Given the description of an element on the screen output the (x, y) to click on. 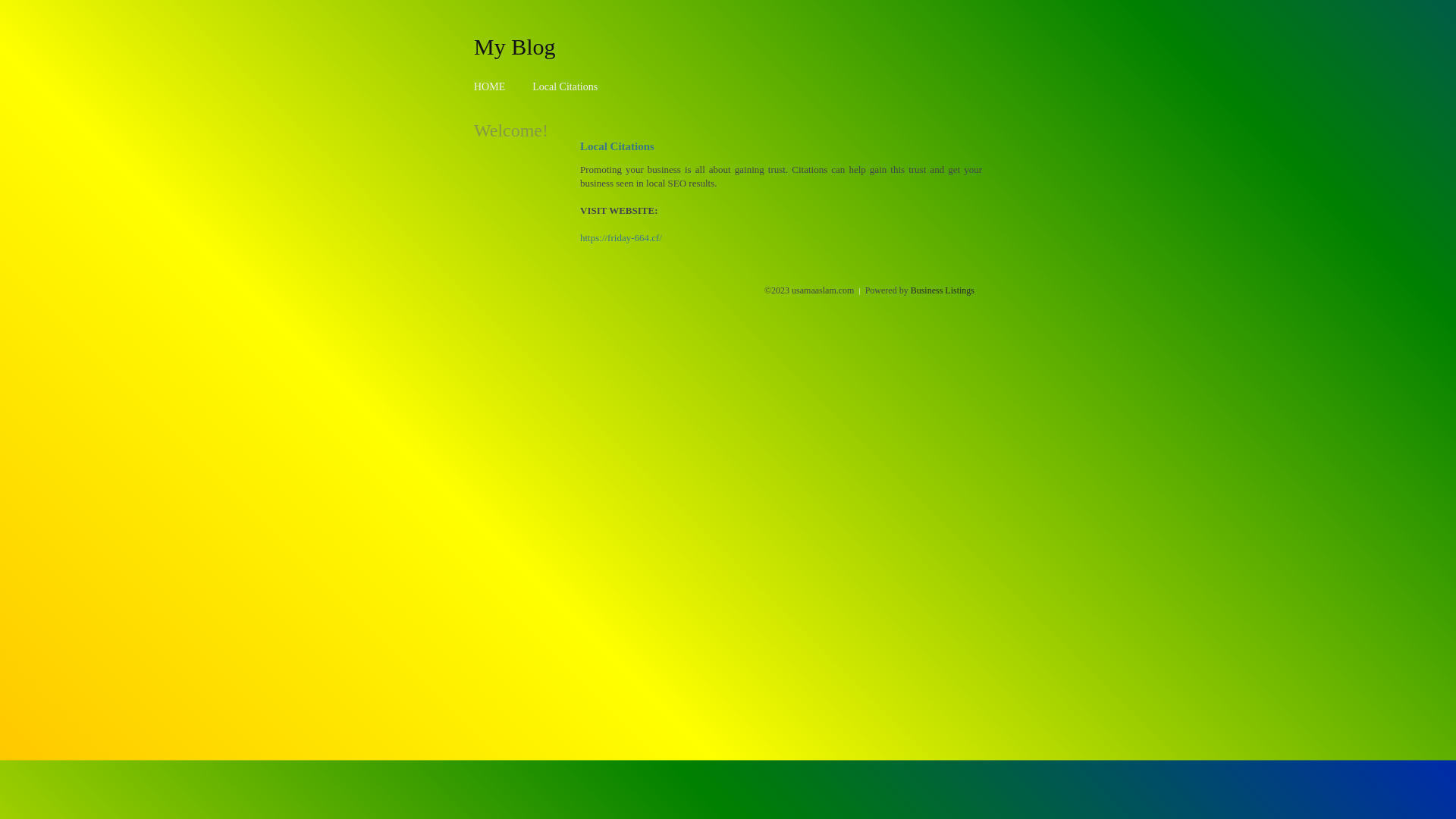
HOME Element type: text (489, 86)
https://friday-664.cf/ Element type: text (621, 237)
My Blog Element type: text (514, 46)
Local Citations Element type: text (564, 86)
Business Listings Element type: text (942, 290)
